Given the description of an element on the screen output the (x, y) to click on. 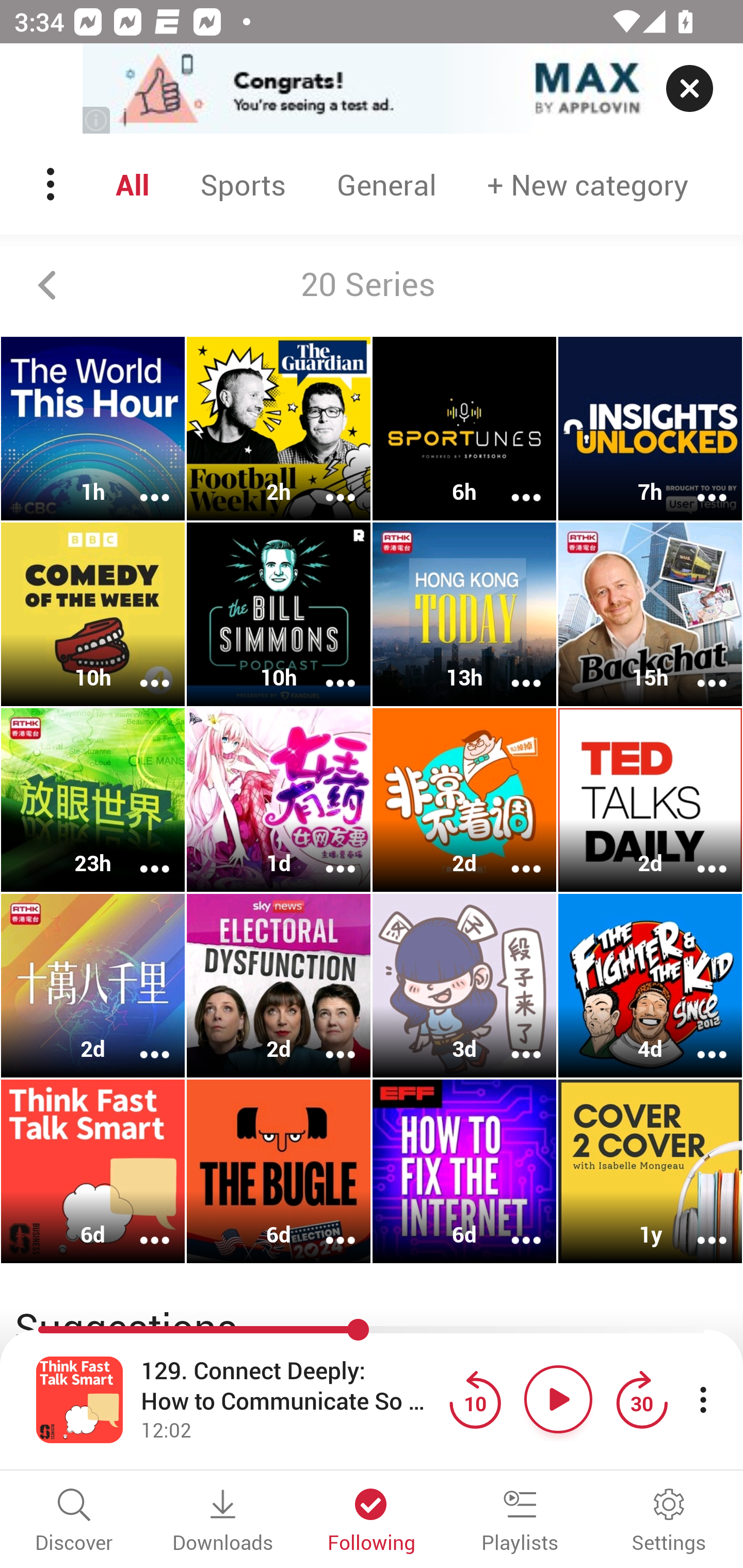
app-monetization (371, 88)
(i) (96, 119)
Menu (52, 184)
All (132, 184)
Sports (242, 184)
General (386, 184)
New category + New category (588, 184)
20 Series (371, 285)
The World This Hour 1h More options More options (92, 428)
Football Weekly 2h More options More options (278, 428)
Sportunes HK 6h More options More options (464, 428)
Insights Unlocked 7h More options More options (650, 428)
More options (141, 484)
More options (326, 484)
More options (512, 484)
More options (698, 484)
Comedy of the Week 10h More options More options (92, 614)
Hong Kong Today 13h More options More options (464, 614)
Backchat 15h More options More options (650, 614)
More options (141, 669)
More options (326, 669)
More options (512, 669)
More options (698, 669)
放眼世界 23h More options More options (92, 799)
女王有药丨爆笑脱口秀 1d More options More options (278, 799)
非常不着调 2d More options More options (464, 799)
TED Talks Daily 2d More options More options (650, 799)
More options (141, 856)
More options (326, 856)
More options (512, 856)
More options (698, 856)
十萬八千里 2d More options More options (92, 985)
Electoral Dysfunction 2d More options More options (278, 985)
段子来了 3d More options More options (464, 985)
The Fighter & The Kid 4d More options More options (650, 985)
More options (141, 1041)
More options (326, 1041)
More options (512, 1041)
More options (698, 1041)
The Bugle 6d More options More options (278, 1170)
Cover 2 Cover 1y More options More options (650, 1170)
More options (141, 1227)
More options (326, 1227)
More options (512, 1227)
More options (698, 1227)
Open fullscreen player (79, 1399)
More player controls (703, 1399)
Play button (558, 1398)
Jump back (475, 1399)
Jump forward (641, 1399)
Discover (74, 1521)
Downloads (222, 1521)
Following (371, 1521)
Playlists (519, 1521)
Settings (668, 1521)
